Given the description of an element on the screen output the (x, y) to click on. 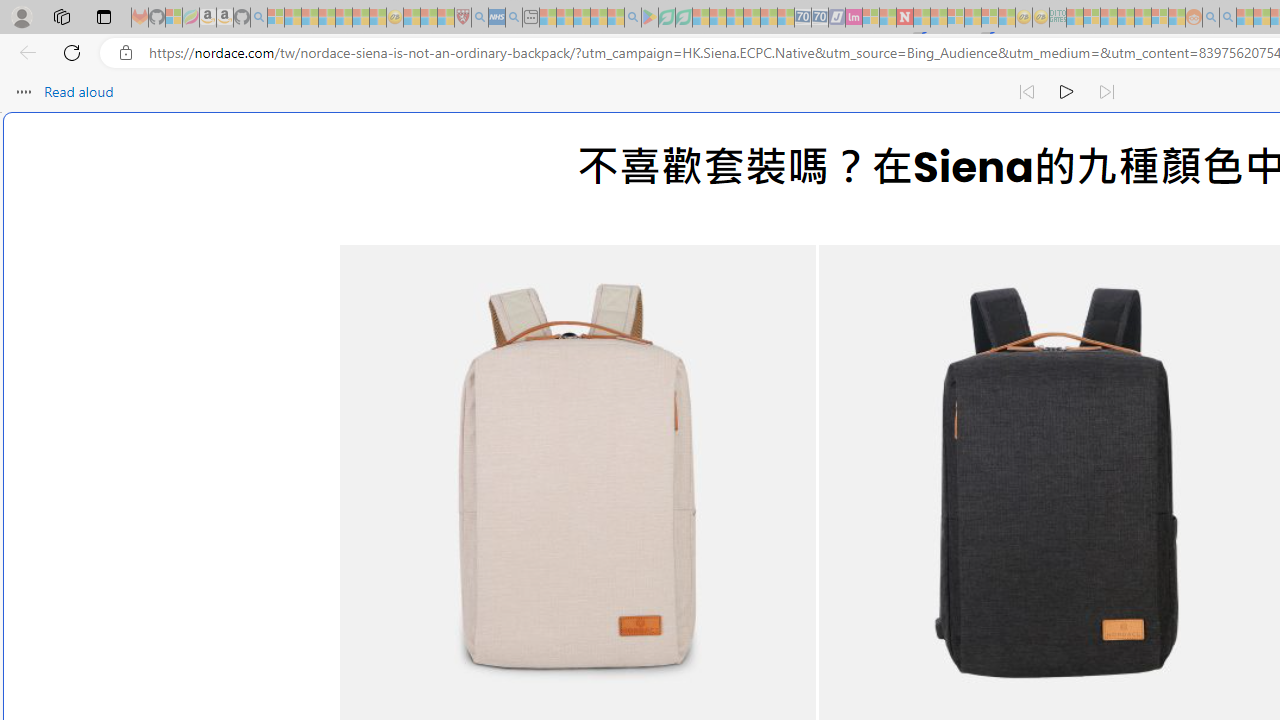
Read next paragraph (1105, 92)
